Given the description of an element on the screen output the (x, y) to click on. 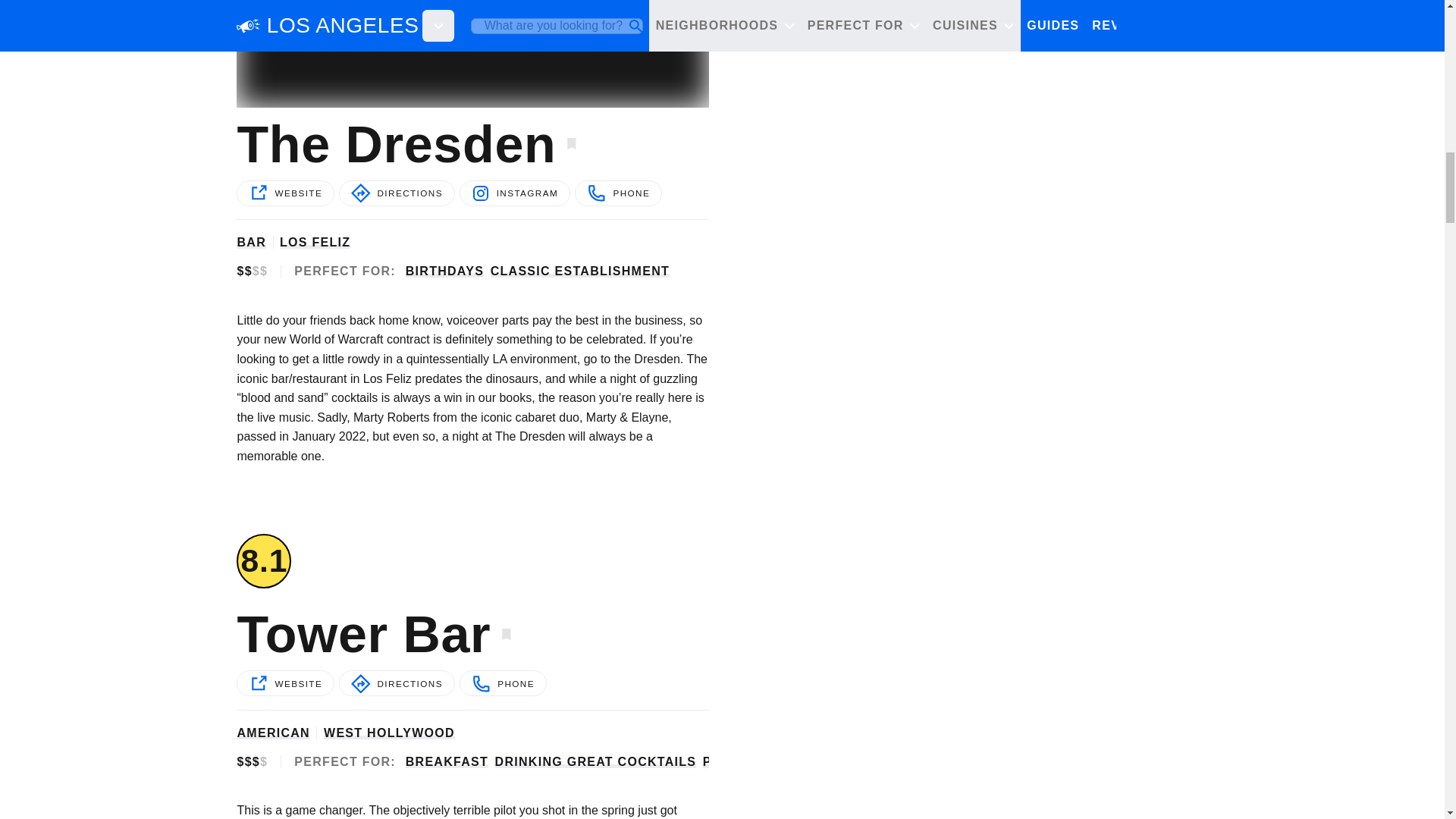
DRINKING GREAT COCKTAILS (596, 761)
Tower Bar (359, 633)
DIRECTIONS (396, 683)
PHONE (618, 193)
DIRECTIONS (396, 193)
WEBSITE (284, 683)
CLASSIC ESTABLISHMENT (579, 270)
BAR (250, 242)
The Dresden (392, 143)
INSTAGRAM (515, 193)
